Given the description of an element on the screen output the (x, y) to click on. 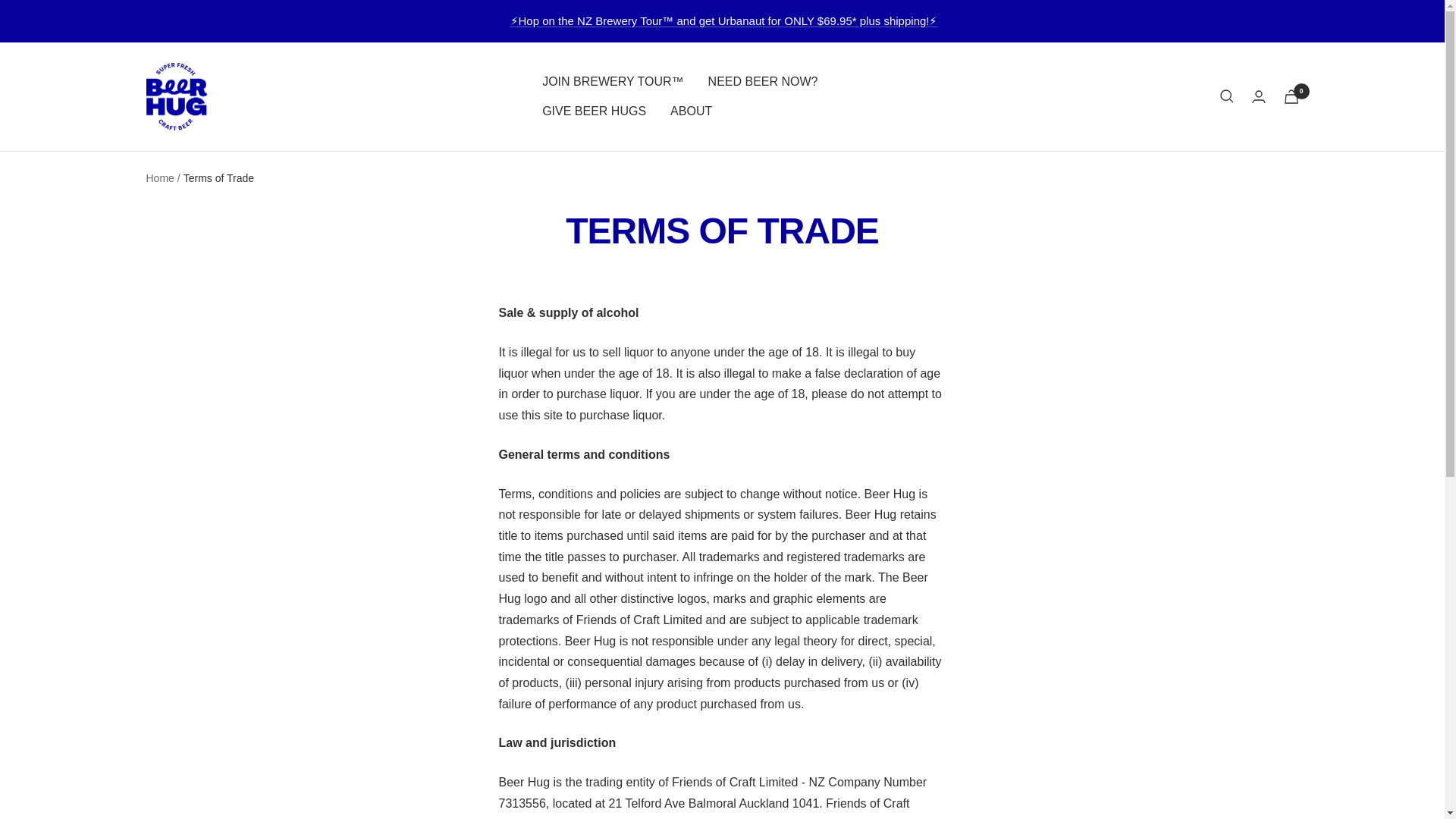
NEED BEER NOW? (762, 81)
GIVE BEER HUGS (593, 111)
ABOUT (690, 111)
Beer Hug (175, 97)
Home (159, 177)
0 (1291, 96)
